Given the description of an element on the screen output the (x, y) to click on. 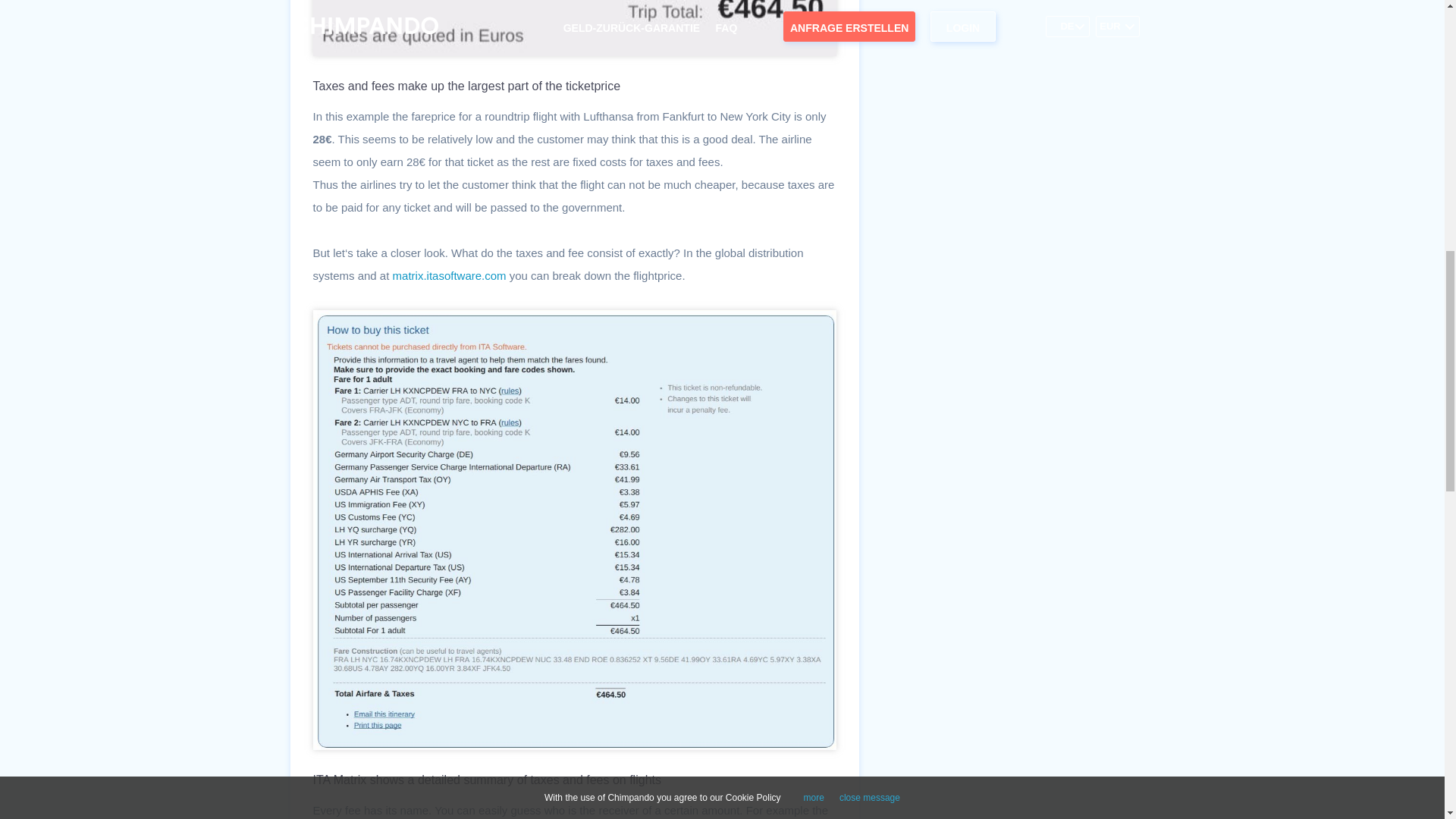
matrix.itasoftware.com (449, 275)
